Given the description of an element on the screen output the (x, y) to click on. 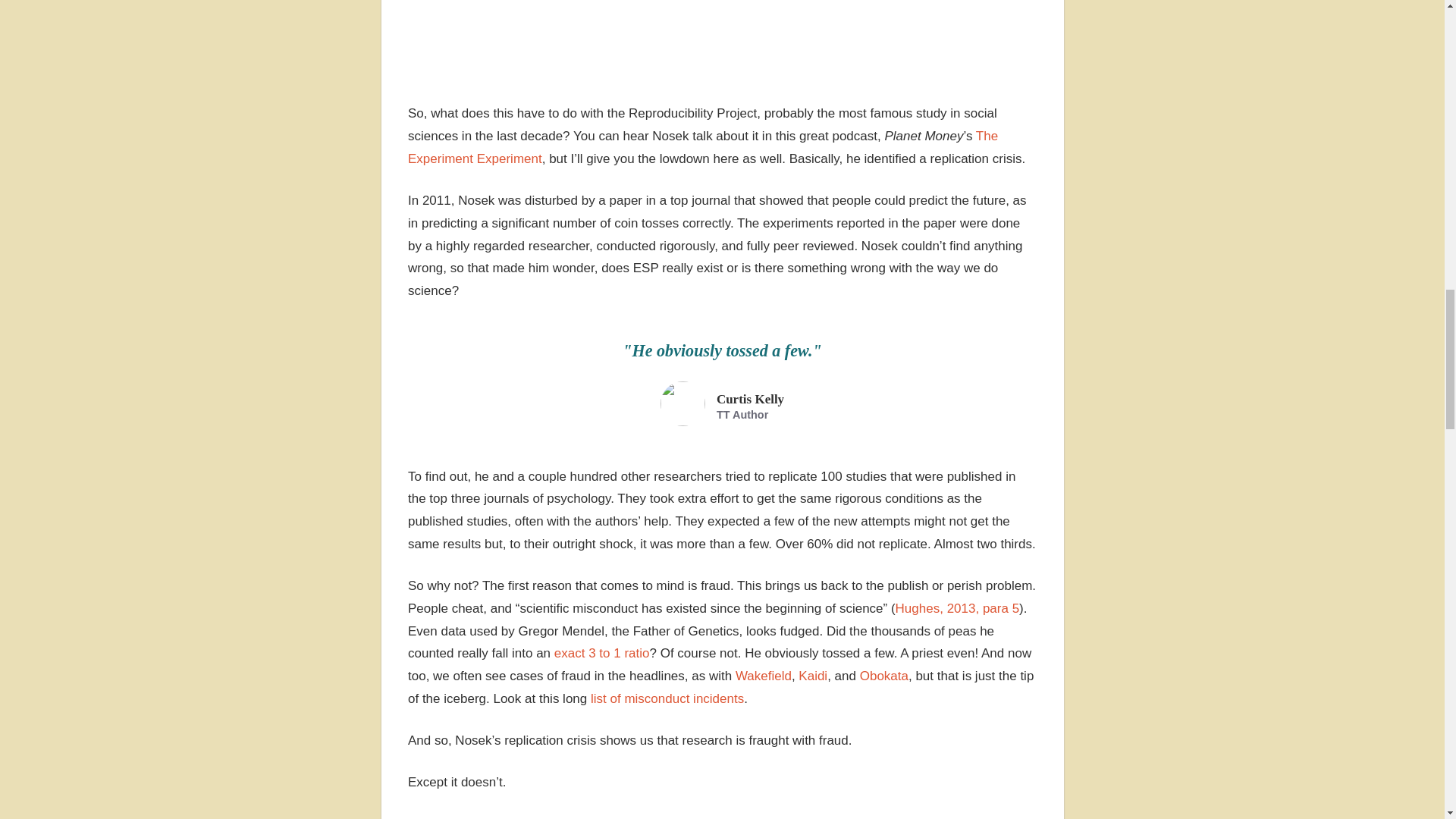
Wakefield (763, 676)
exact 3 to 1 ratio (601, 653)
list of misconduct incidents (667, 698)
Kaidi (812, 676)
Obokata (884, 676)
Hughes, 2013, para 5 (957, 608)
The Experiment Experiment (702, 147)
